Given the description of an element on the screen output the (x, y) to click on. 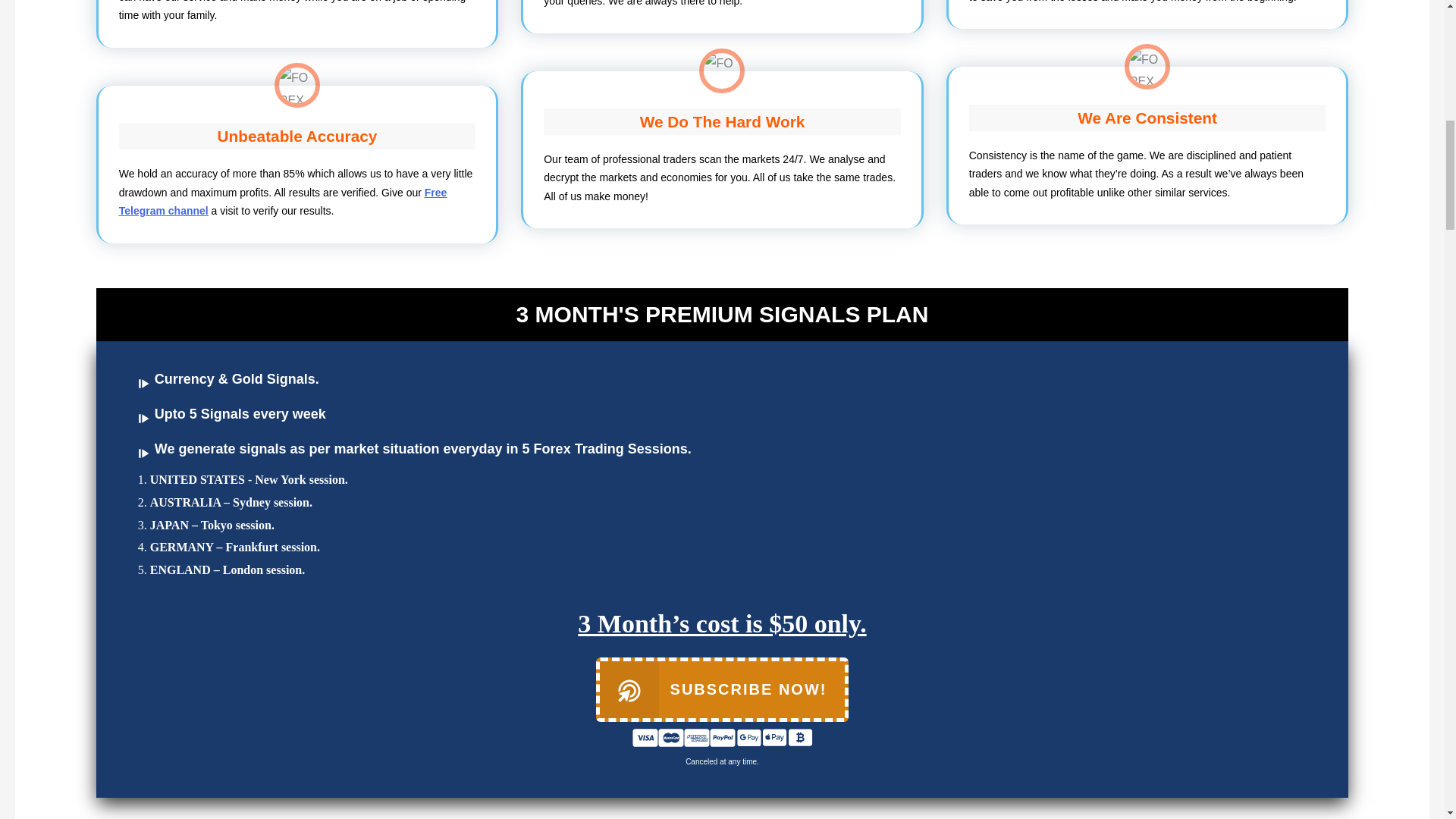
accuracy (297, 84)
SUBSCRIBE NOW! (721, 689)
Free Telegram channel (282, 201)
